Given the description of an element on the screen output the (x, y) to click on. 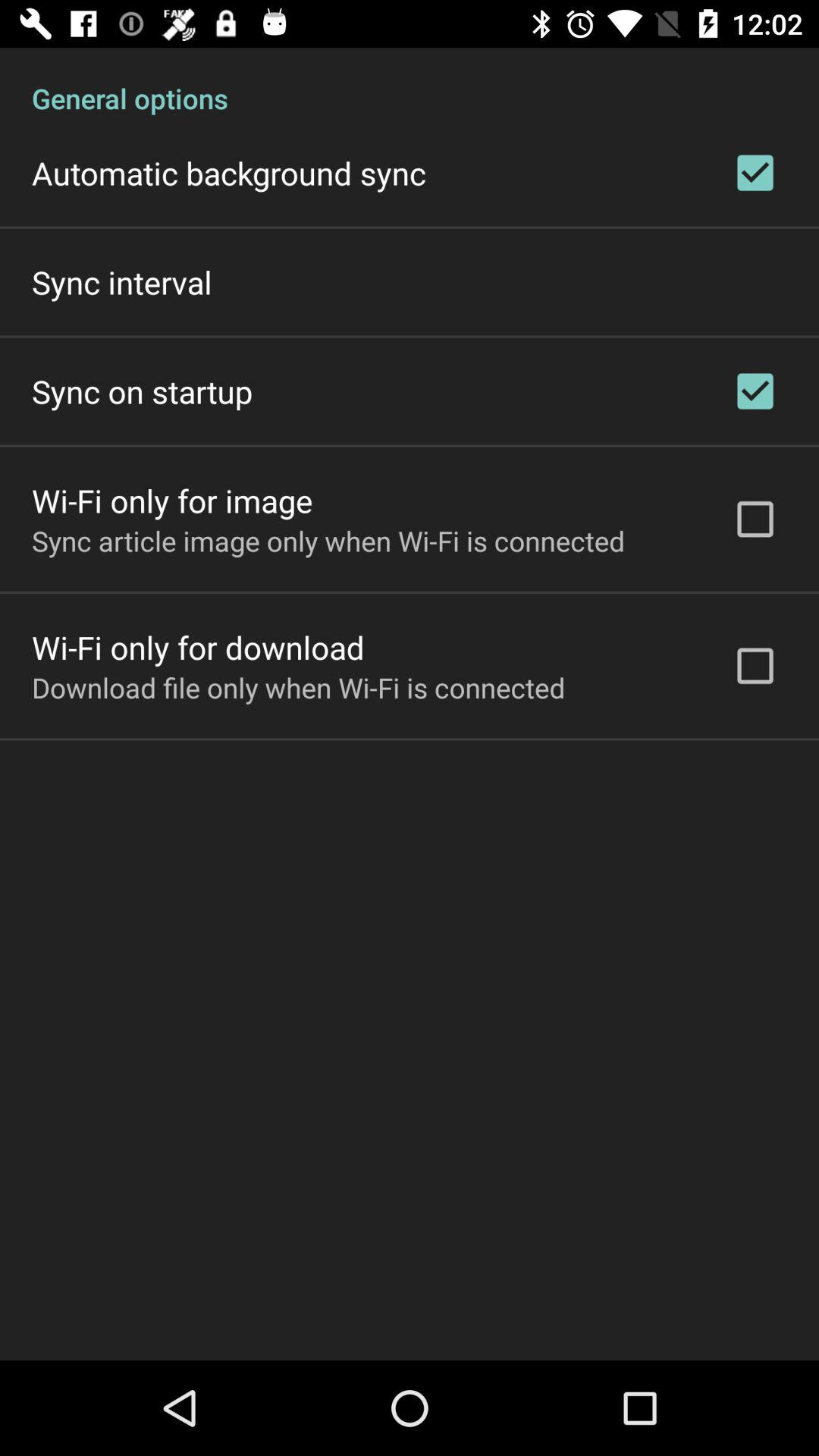
launch the sync article image item (328, 540)
